Given the description of an element on the screen output the (x, y) to click on. 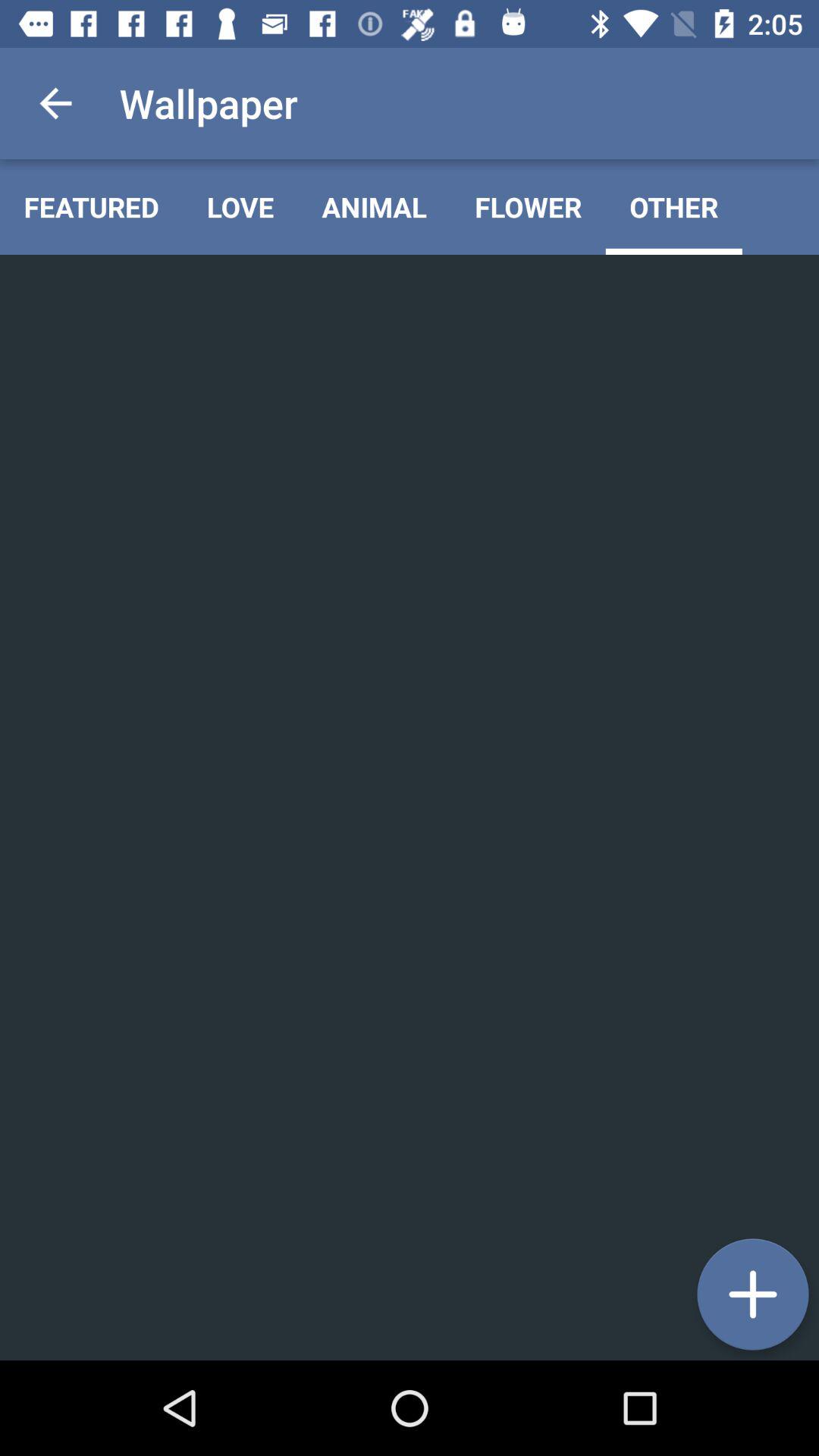
press icon to the left of the other icon (527, 206)
